Given the description of an element on the screen output the (x, y) to click on. 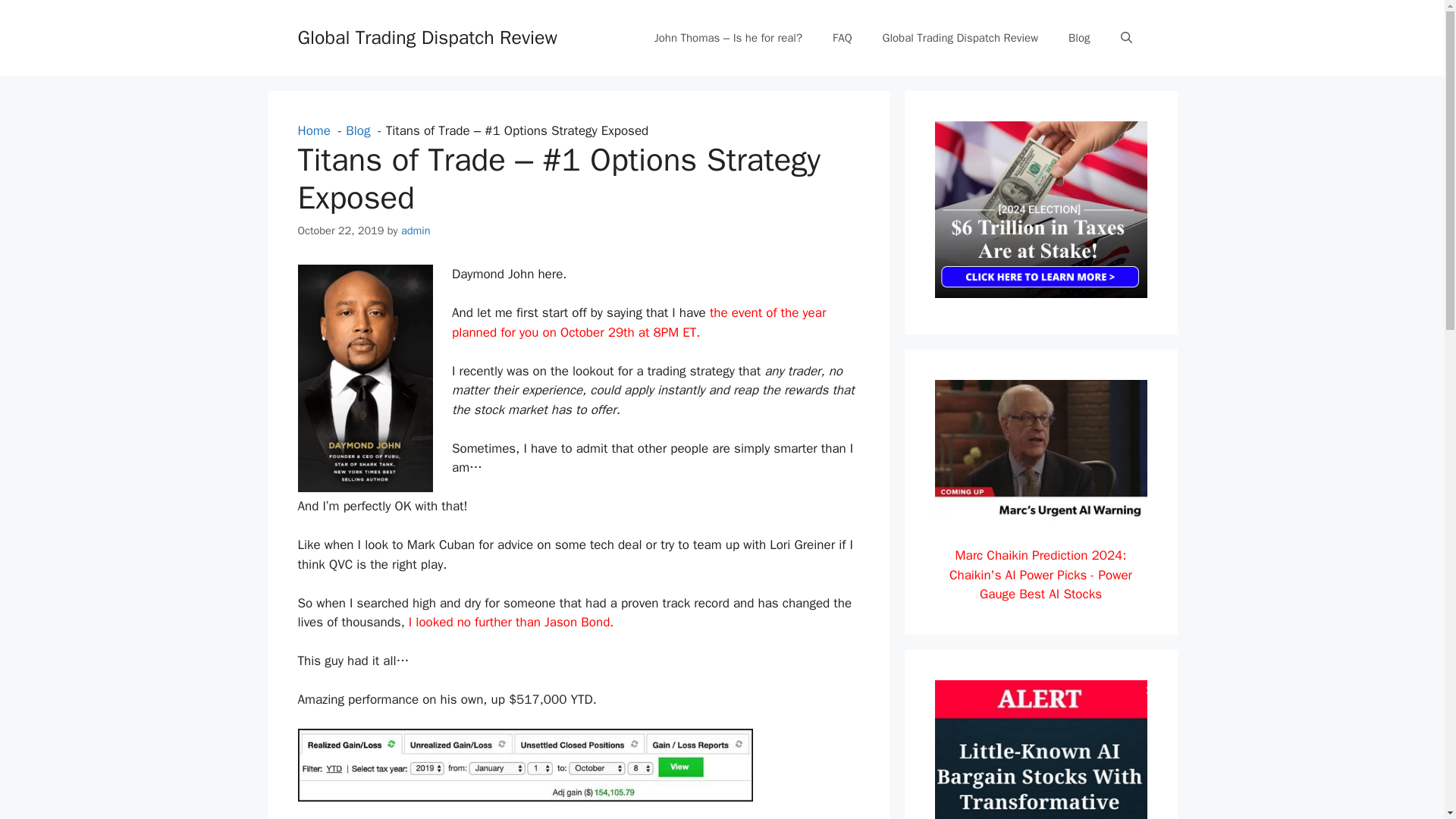
FAQ (841, 37)
Blog (1078, 37)
Global Trading Dispatch Review (426, 37)
View all posts by admin (415, 229)
Blog (357, 130)
Global Trading Dispatch Review (960, 37)
admin (415, 229)
Home (313, 130)
I looked no further than Jason Bond. (511, 621)
